Given the description of an element on the screen output the (x, y) to click on. 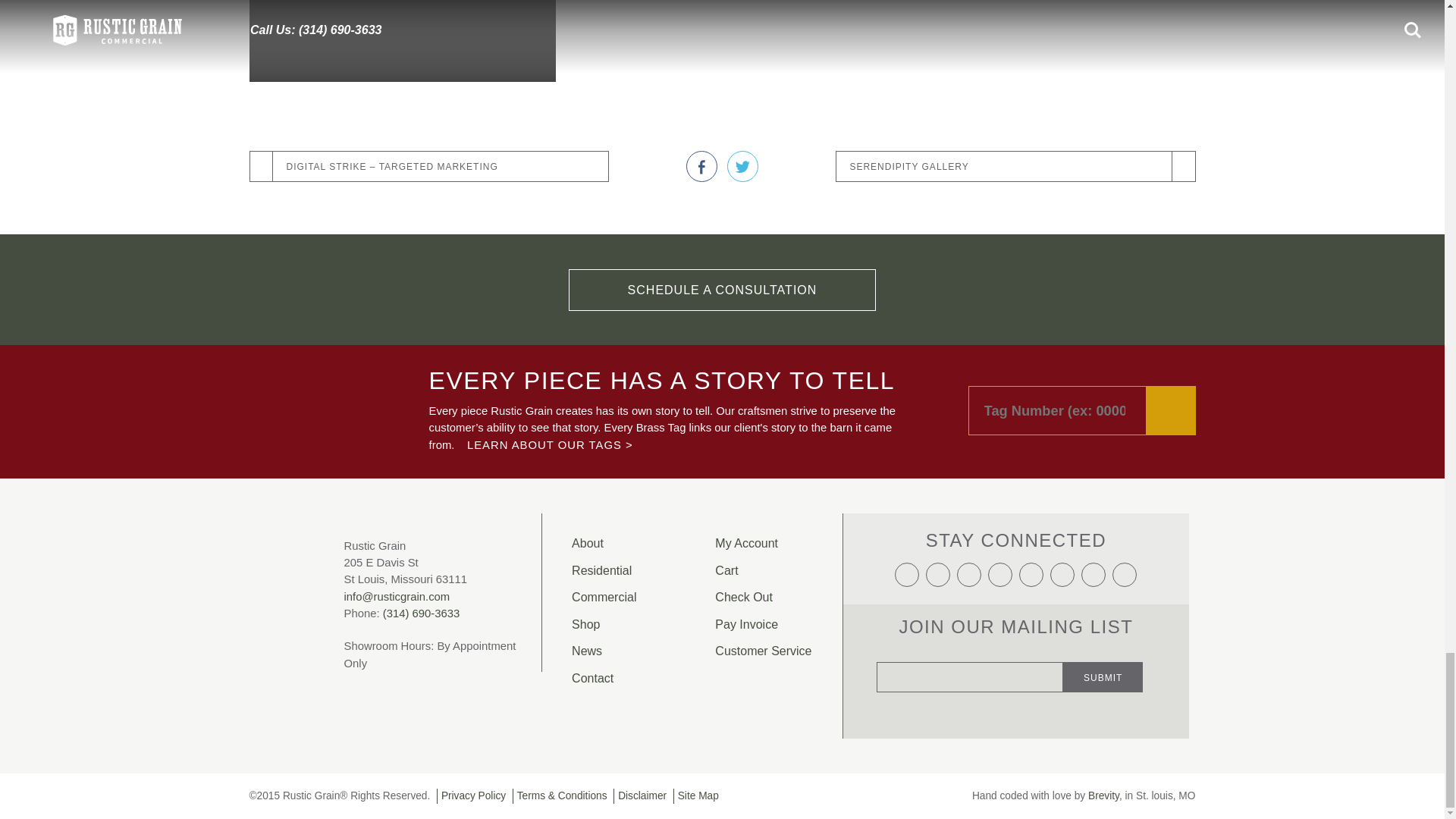
Tag Search (1081, 409)
Search (1170, 409)
SERENDIPITY GALLERY (1014, 166)
Submit (1102, 675)
Search (1170, 409)
